Given the description of an element on the screen output the (x, y) to click on. 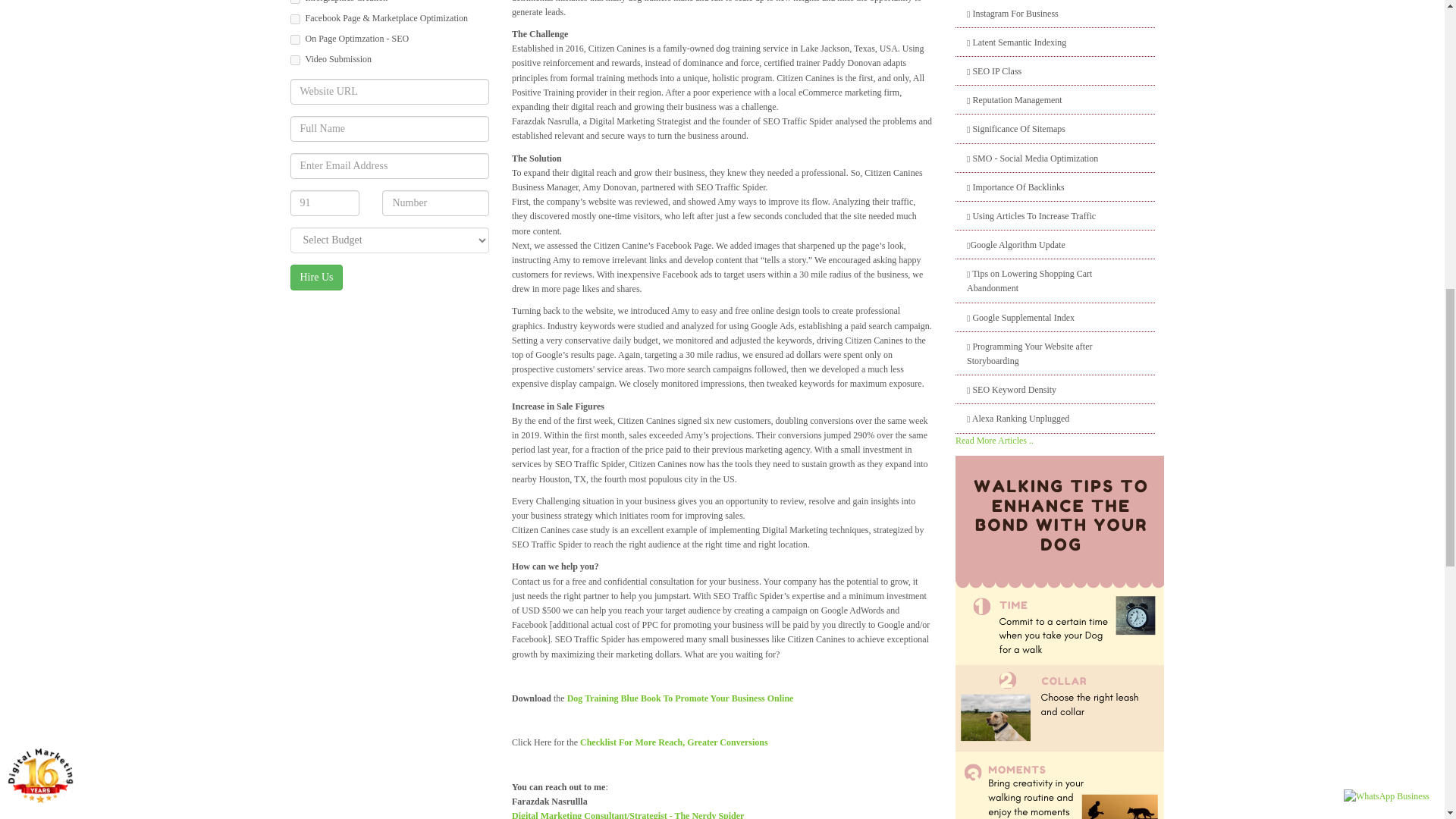
Inforgraphics Creation (294, 2)
Dog Training Blue Book To Promote Your Business Online (680, 697)
On Page Optimzation - SEO (294, 40)
Checklist For More Reach, Greater Conversions (673, 742)
Hire Us (315, 277)
Video Submission (294, 60)
